Given the description of an element on the screen output the (x, y) to click on. 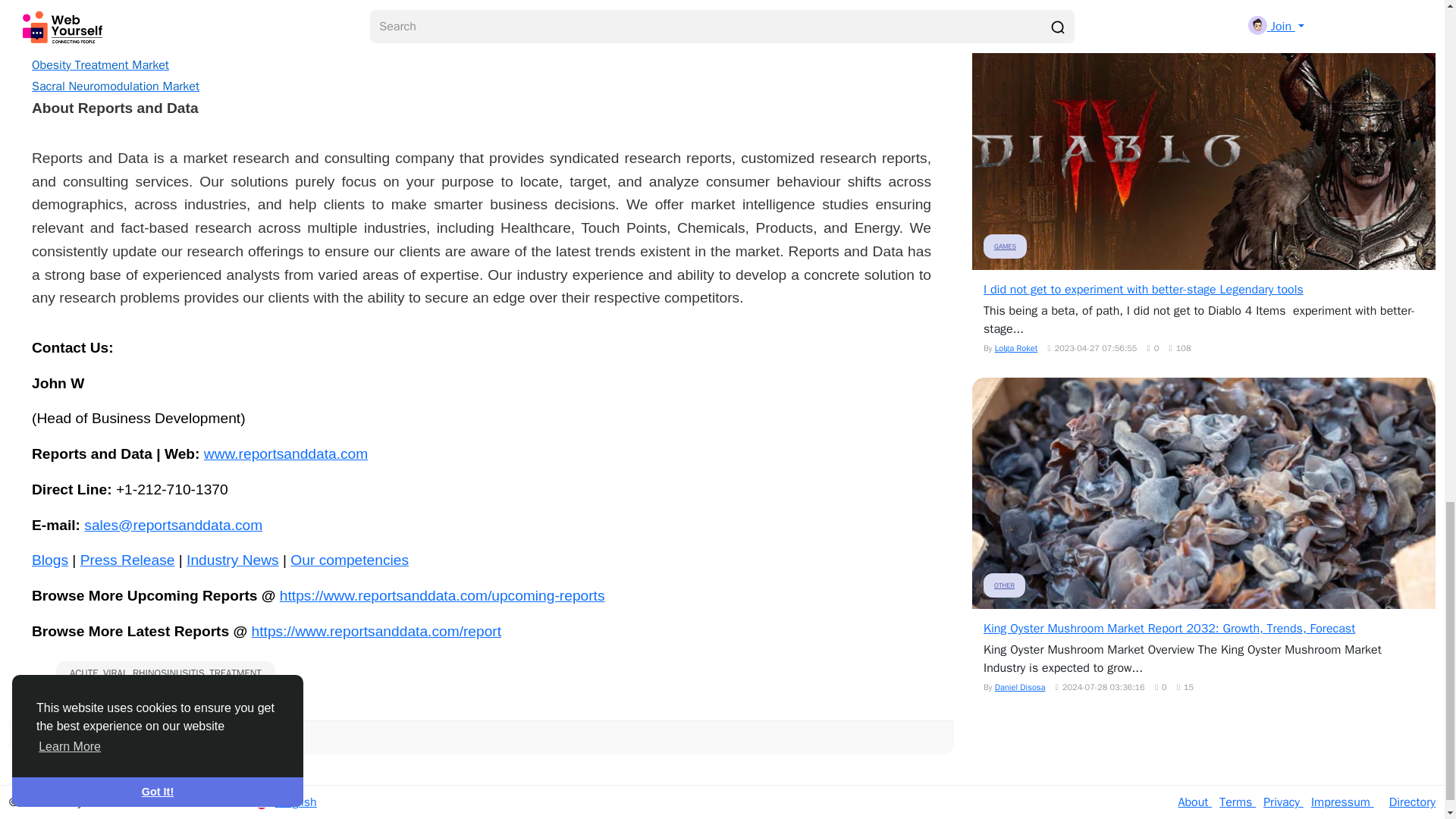
Industry News (232, 560)
Obesity Treatment Market (100, 64)
Our competencies (349, 560)
Kidney Function Test Market (107, 43)
Sacral Neuromodulation Market (115, 86)
Cardiovascular Devices Market (113, 3)
Press Release (127, 560)
Blogs (50, 560)
www.reportsanddata.com (285, 454)
Cervical Cancer Diagnostic Market (122, 20)
